Given the description of an element on the screen output the (x, y) to click on. 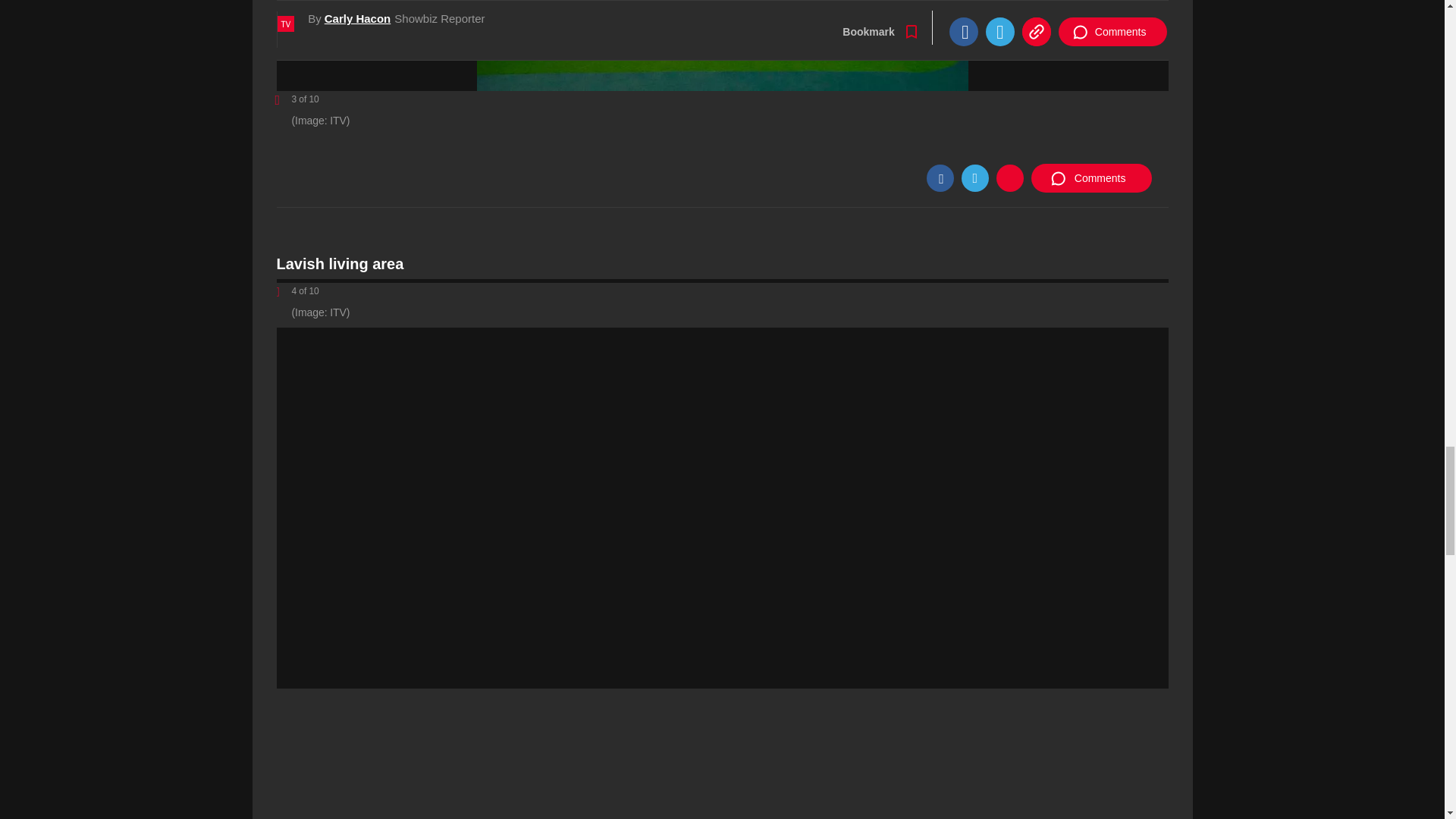
Facebook (939, 177)
Twitter (974, 177)
